Given the description of an element on the screen output the (x, y) to click on. 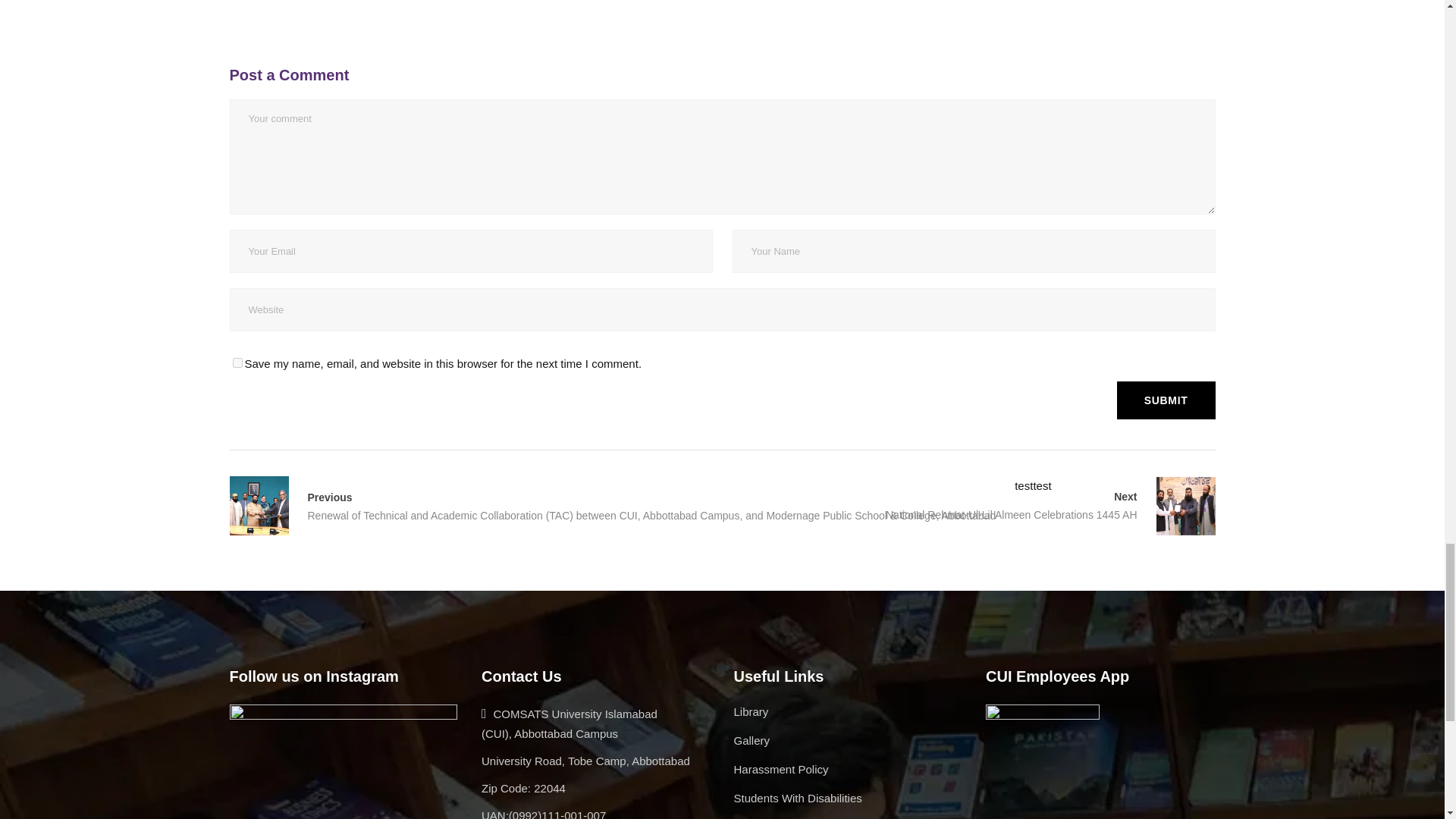
Submit (1165, 400)
yes (236, 362)
